Given the description of an element on the screen output the (x, y) to click on. 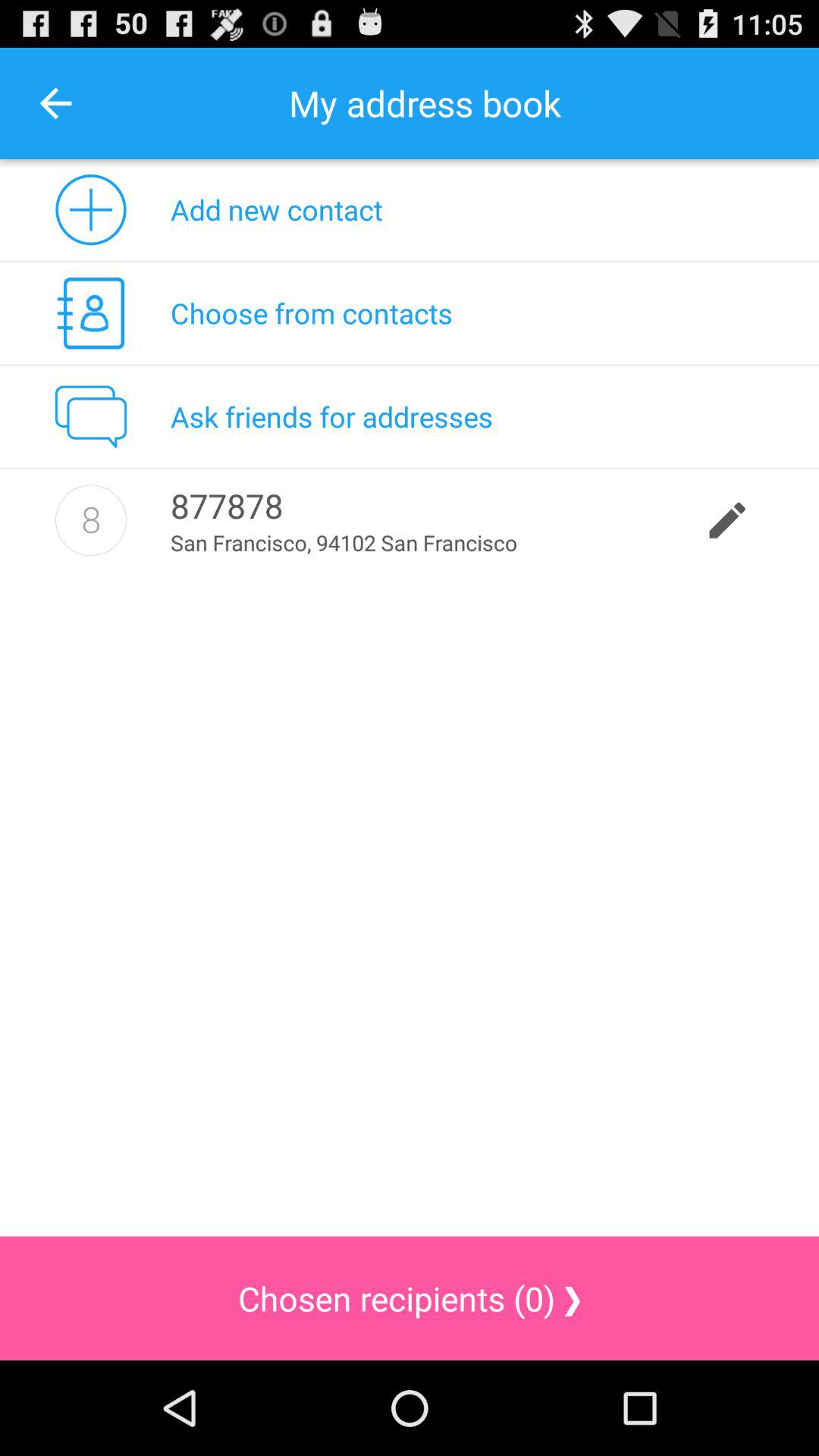
go to previous (55, 103)
